Given the description of an element on the screen output the (x, y) to click on. 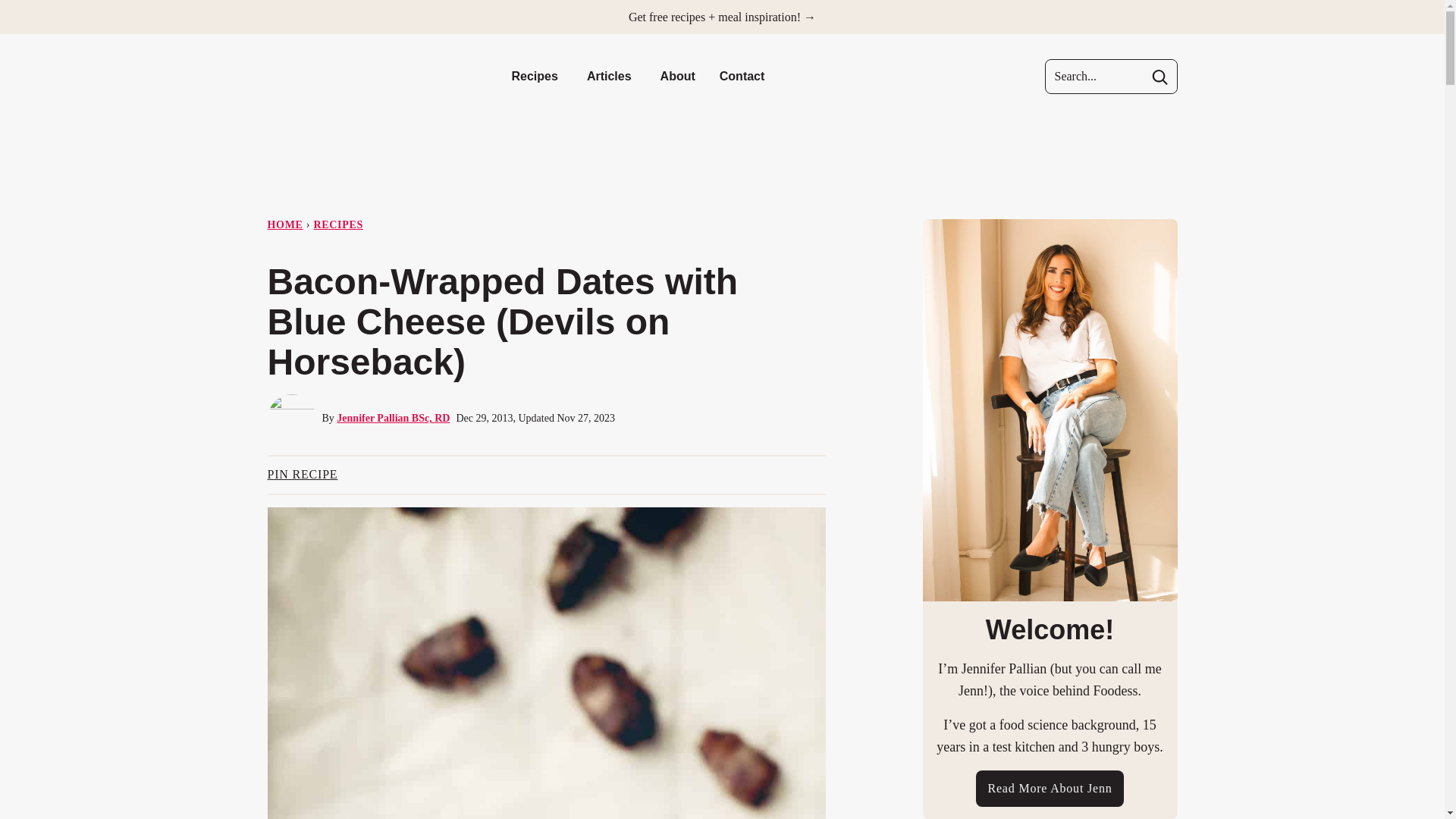
Articles (611, 75)
Recipes (536, 75)
Share on Pinterest (301, 474)
